Given the description of an element on the screen output the (x, y) to click on. 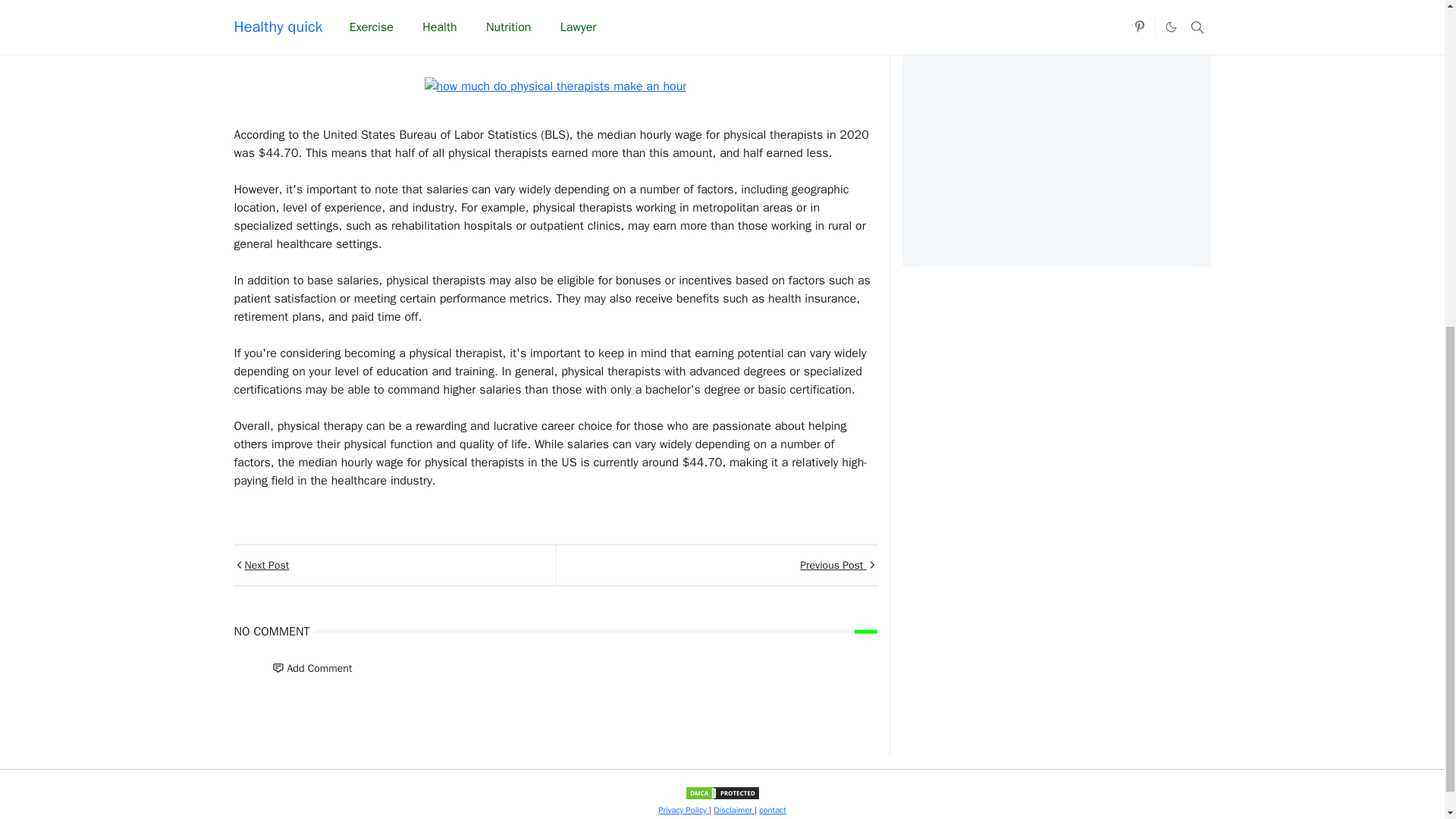
Next Post (393, 565)
how much do physical therapists make an hour (556, 85)
Privacy Policy (683, 809)
Disclaimer (733, 809)
contact (772, 809)
Add Comment (311, 667)
Previous Post (715, 565)
Check blog Protection Status (722, 792)
